Given the description of an element on the screen output the (x, y) to click on. 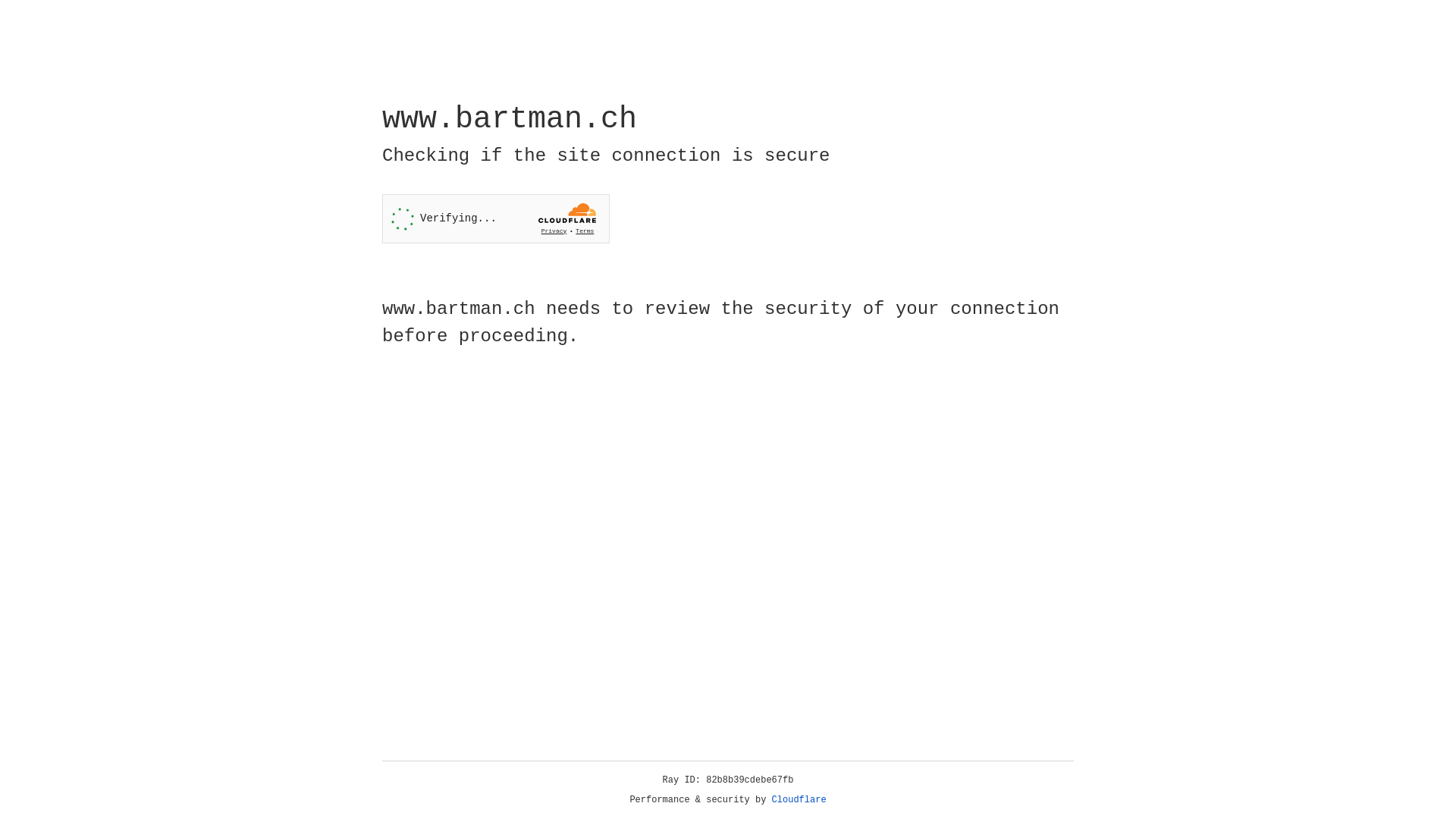
Cloudflare Element type: text (798, 799)
Widget containing a Cloudflare security challenge Element type: hover (495, 218)
